Given the description of an element on the screen output the (x, y) to click on. 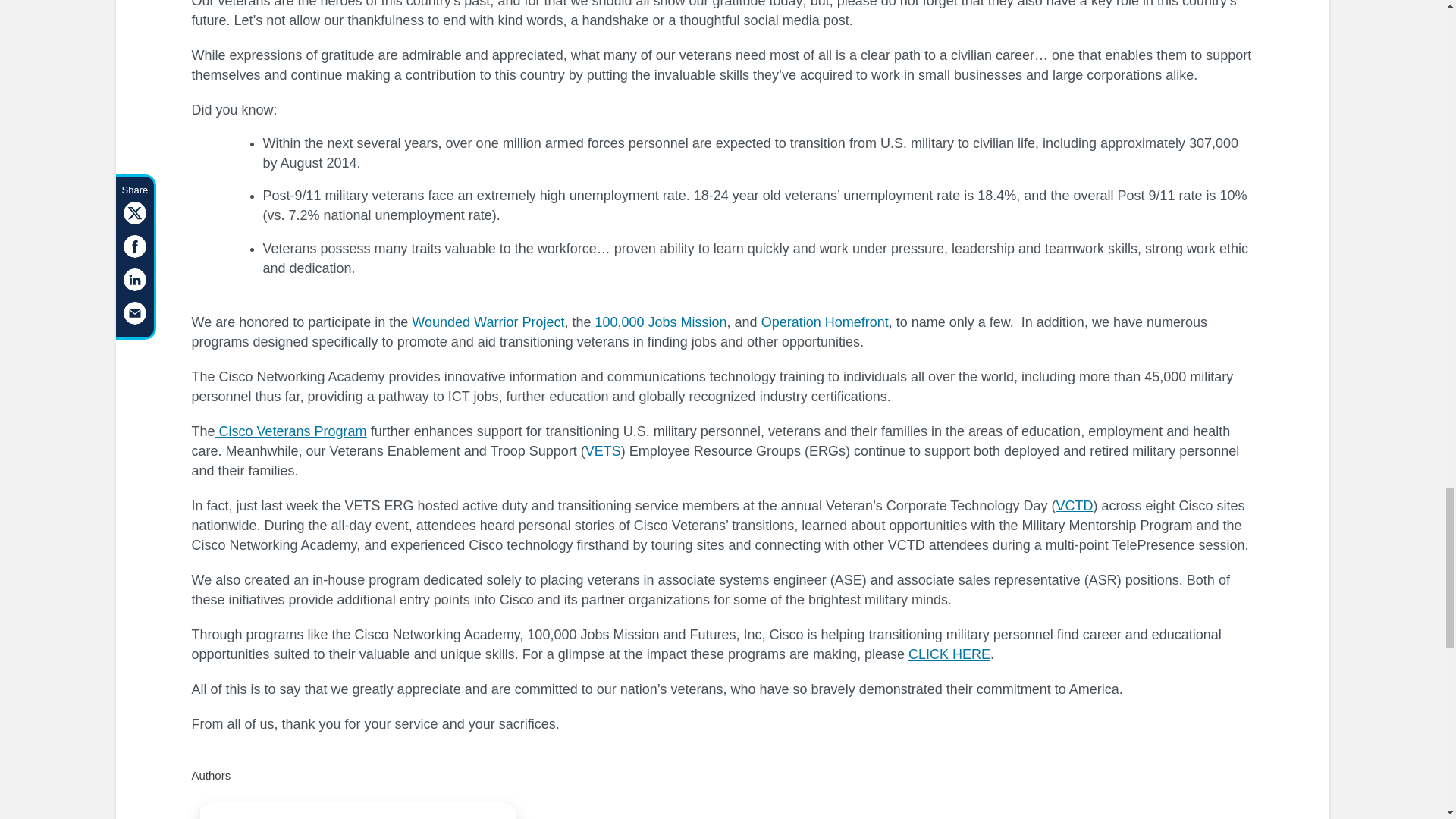
100,000 Jobs Mission (660, 322)
Wounded Warrior Project (488, 322)
CLICK HERE (949, 654)
Operation Homefront (824, 322)
Cisco Veterans Program (290, 431)
VCTD (1074, 505)
VETS (603, 450)
